Given the description of an element on the screen output the (x, y) to click on. 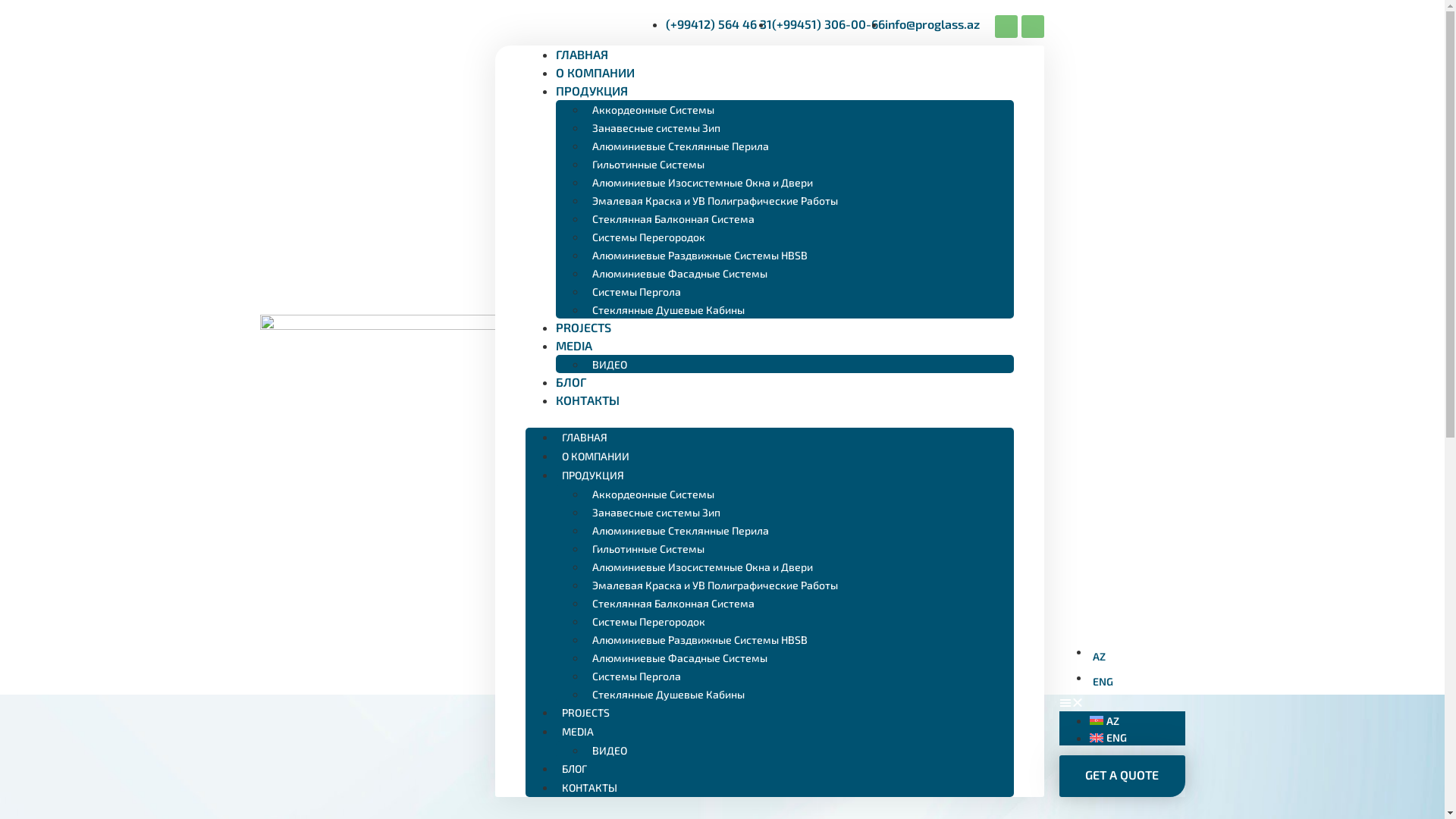
ENG Element type: text (1136, 681)
GET A QUOTE Element type: text (1121, 776)
PROJECTS Element type: text (582, 326)
AZ Element type: text (1136, 656)
PROJECTS Element type: text (585, 711)
ENG Element type: text (1136, 737)
AZ Element type: text (1136, 720)
MEDIA Element type: text (573, 345)
(+99412) 564 46 31 Element type: text (718, 23)
info@proglass.az Element type: text (931, 23)
MEDIA Element type: text (577, 730)
(+99451) 306-00-66 Element type: text (827, 23)
